Given the description of an element on the screen output the (x, y) to click on. 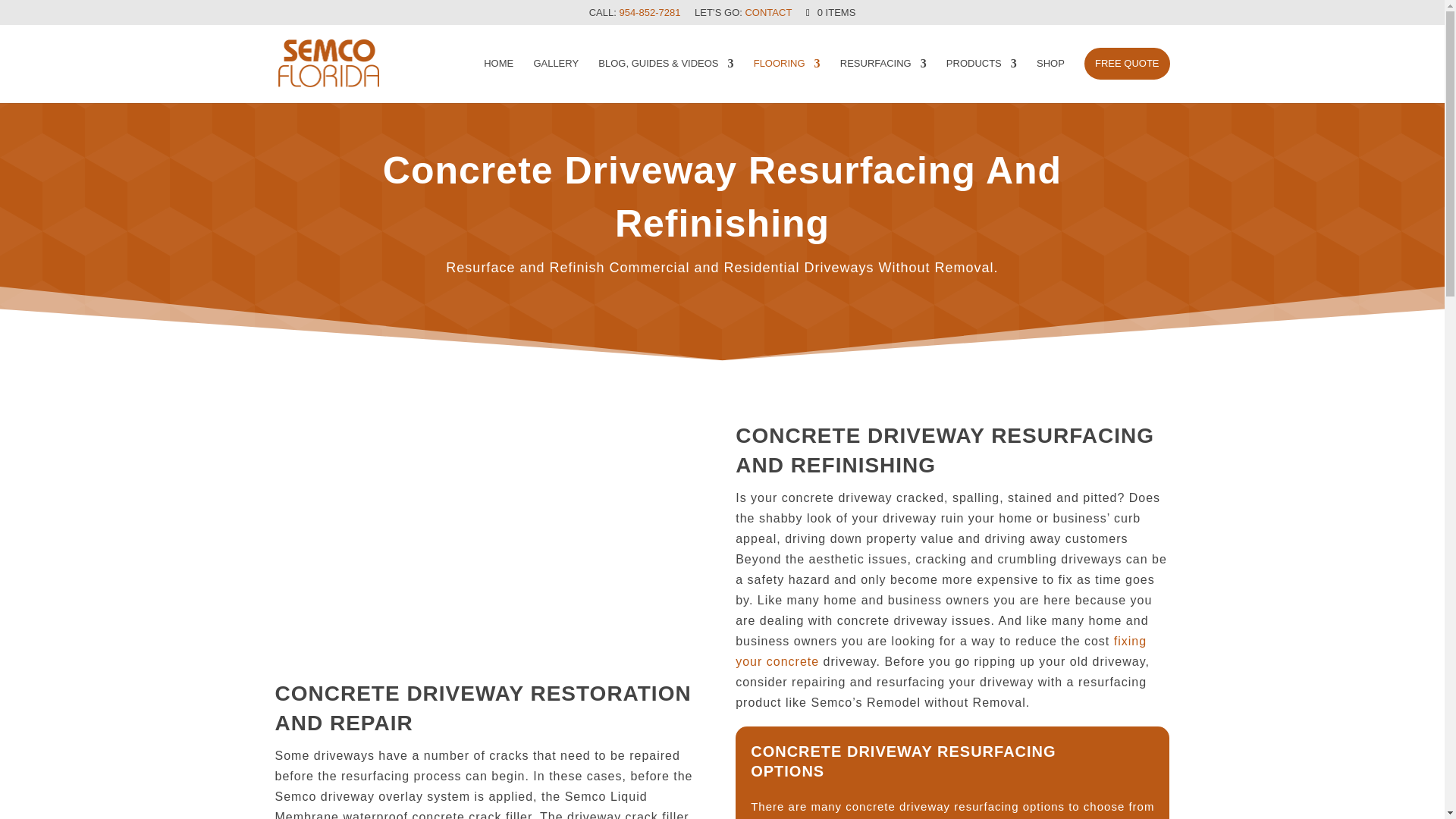
CALL: 954-852-7281 (635, 16)
GALLERY (555, 80)
RESURFACING (883, 80)
FLOORING (787, 80)
0 ITEMS (829, 12)
